Given the description of an element on the screen output the (x, y) to click on. 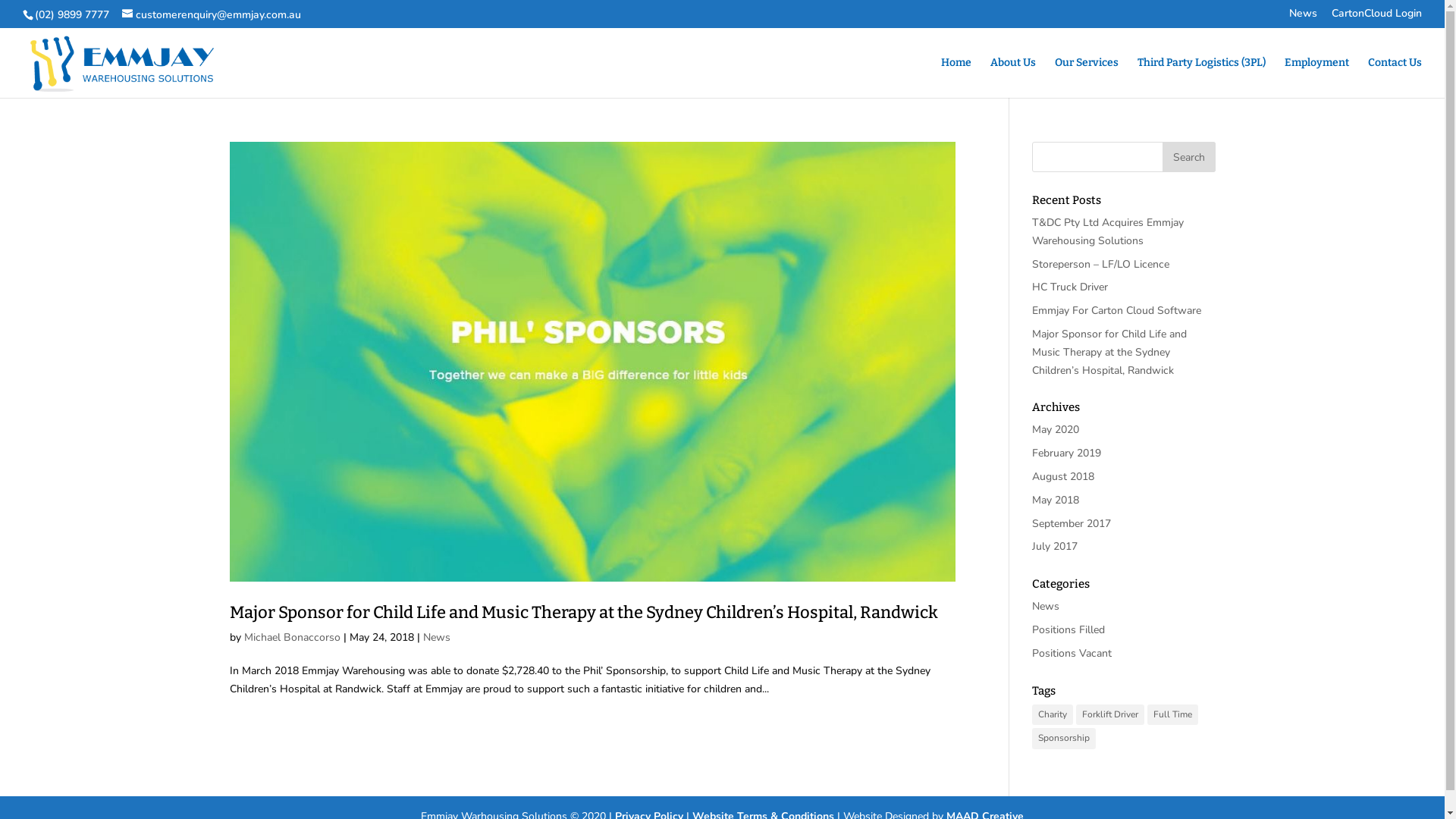
August 2018 Element type: text (1063, 476)
News Element type: text (436, 637)
Charity Element type: text (1052, 714)
Full Time Element type: text (1172, 714)
Contact Us Element type: text (1394, 77)
Home Element type: text (956, 77)
Positions Filled Element type: text (1068, 629)
Sponsorship Element type: text (1063, 738)
July 2017 Element type: text (1054, 546)
CartonCloud Login Element type: text (1376, 16)
About Us Element type: text (1012, 77)
Emmjay For Carton Cloud Software Element type: text (1116, 310)
February 2019 Element type: text (1066, 452)
T&DC Pty Ltd Acquires Emmjay Warehousing Solutions Element type: text (1107, 231)
Search Element type: text (1187, 156)
Our Services Element type: text (1086, 77)
News Element type: text (1045, 606)
Employment Element type: text (1316, 77)
September 2017 Element type: text (1071, 523)
HC Truck Driver Element type: text (1069, 286)
(02) 9899 7777 Element type: text (71, 14)
Forklift Driver Element type: text (1110, 714)
May 2018 Element type: text (1055, 499)
Third Party Logistics (3PL) Element type: text (1201, 77)
Michael Bonaccorso Element type: text (292, 637)
Positions Vacant Element type: text (1071, 653)
customerenquiry@emmjay.com.au Element type: text (211, 14)
News Element type: text (1303, 16)
May 2020 Element type: text (1055, 429)
